Given the description of an element on the screen output the (x, y) to click on. 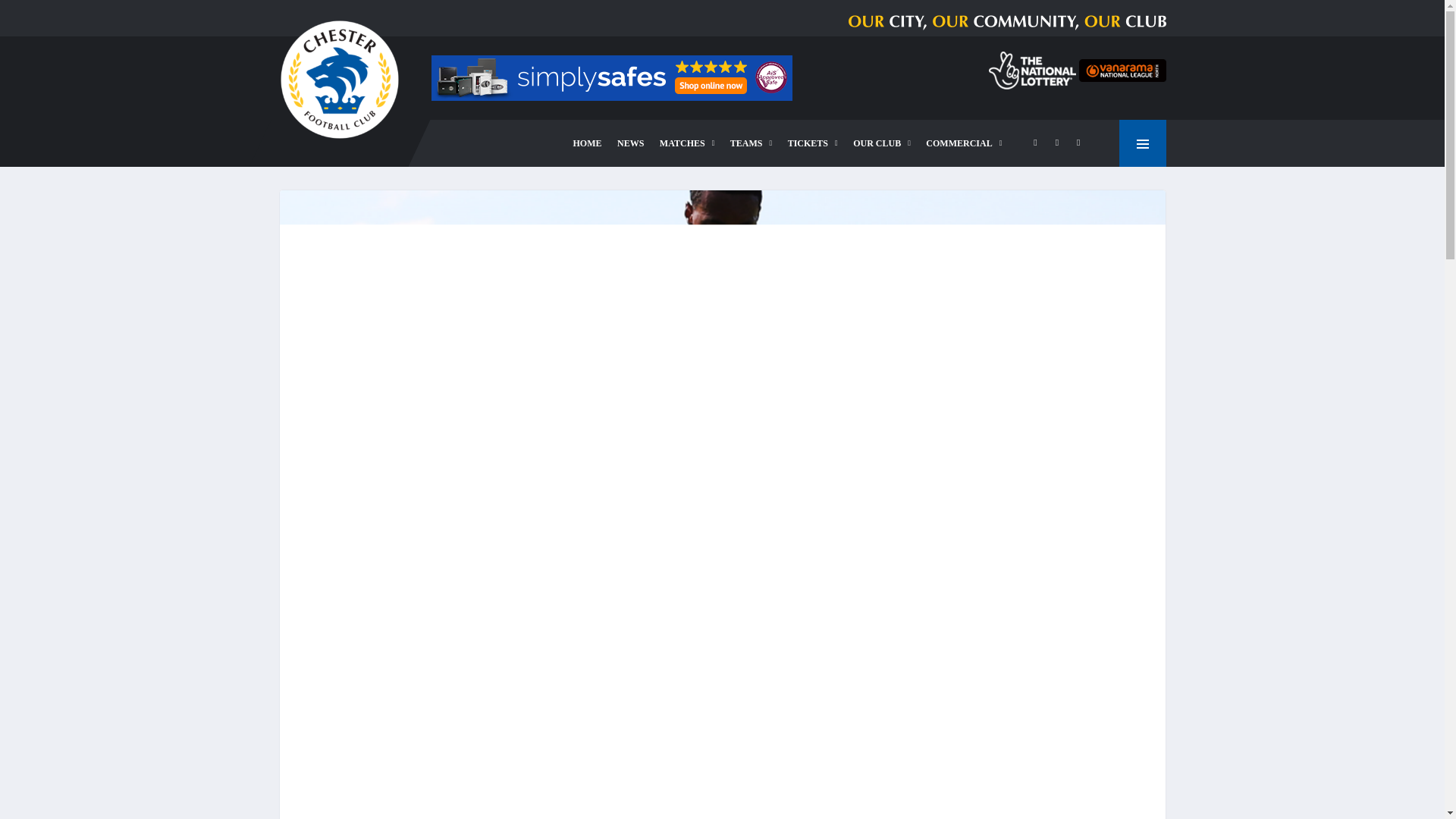
OUR CLUB (882, 143)
NEWS (630, 143)
TICKETS (812, 143)
HOME (587, 143)
MATCHES (686, 143)
TEAMS (750, 143)
